Given the description of an element on the screen output the (x, y) to click on. 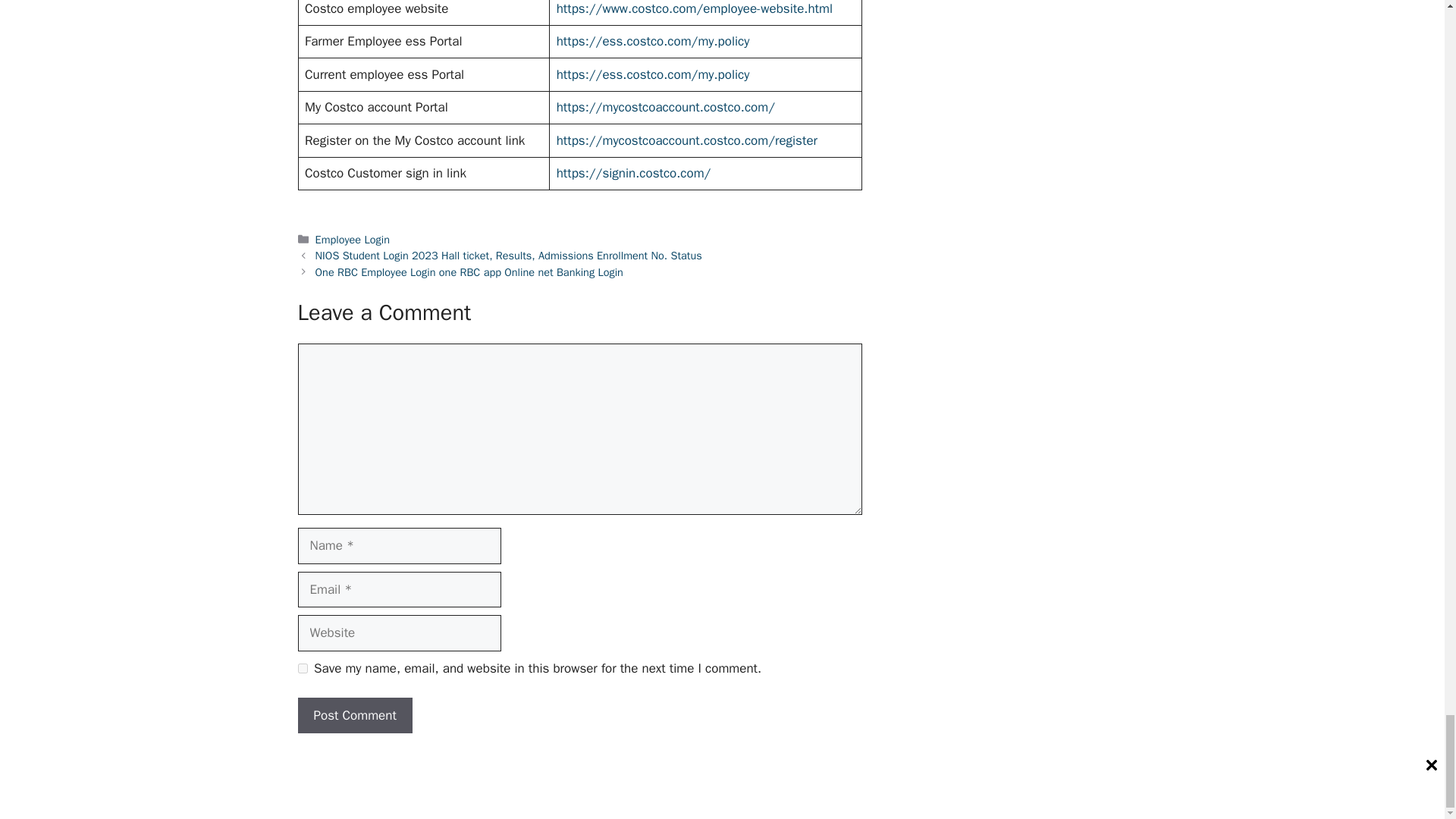
Post Comment (354, 715)
One RBC Employee Login one RBC app Online net Banking Login (469, 272)
Employee Login (352, 239)
Post Comment (354, 715)
yes (302, 668)
